Given the description of an element on the screen output the (x, y) to click on. 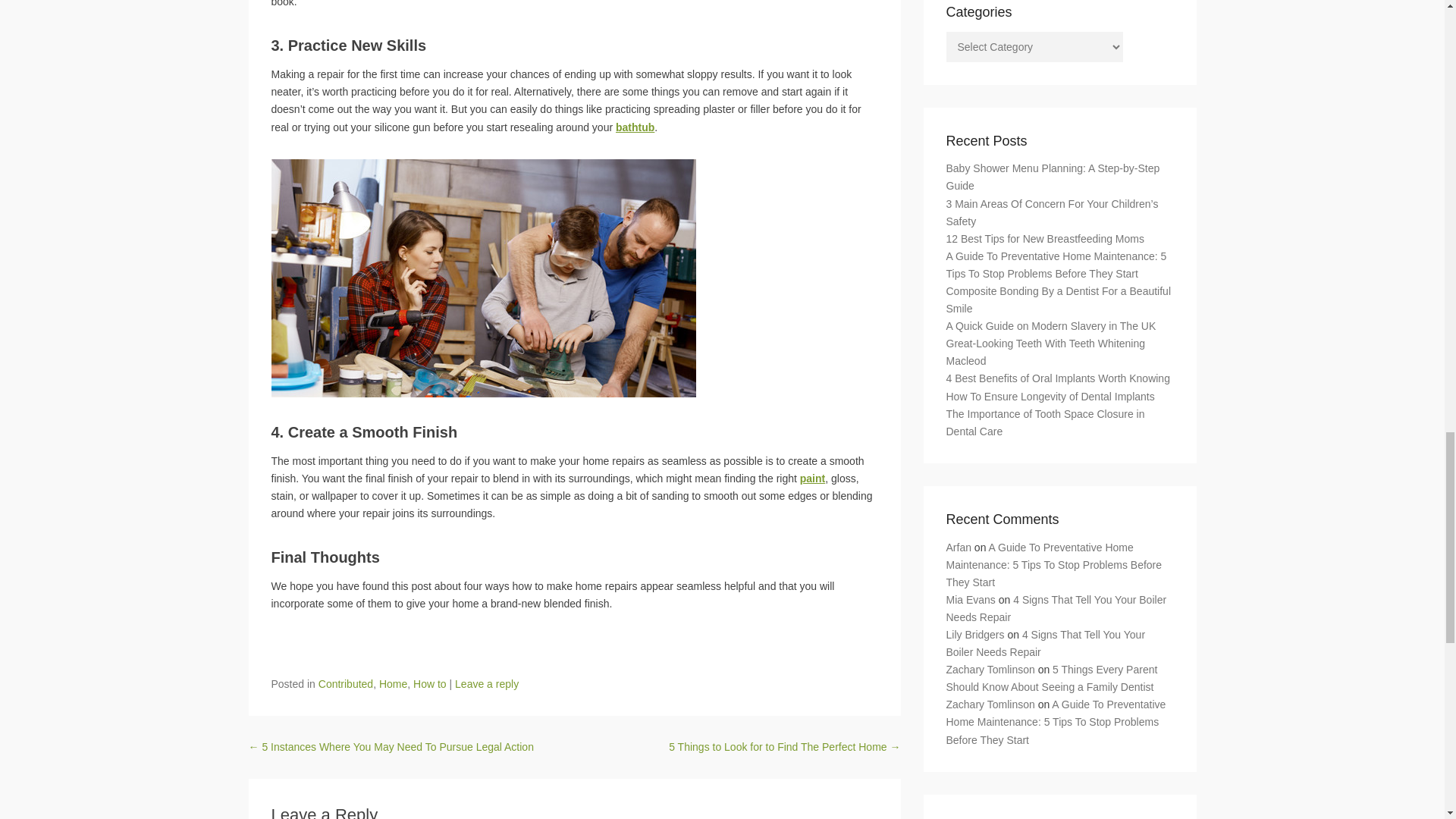
Contributed (345, 684)
paint (812, 478)
bathtub (634, 127)
